Given the description of an element on the screen output the (x, y) to click on. 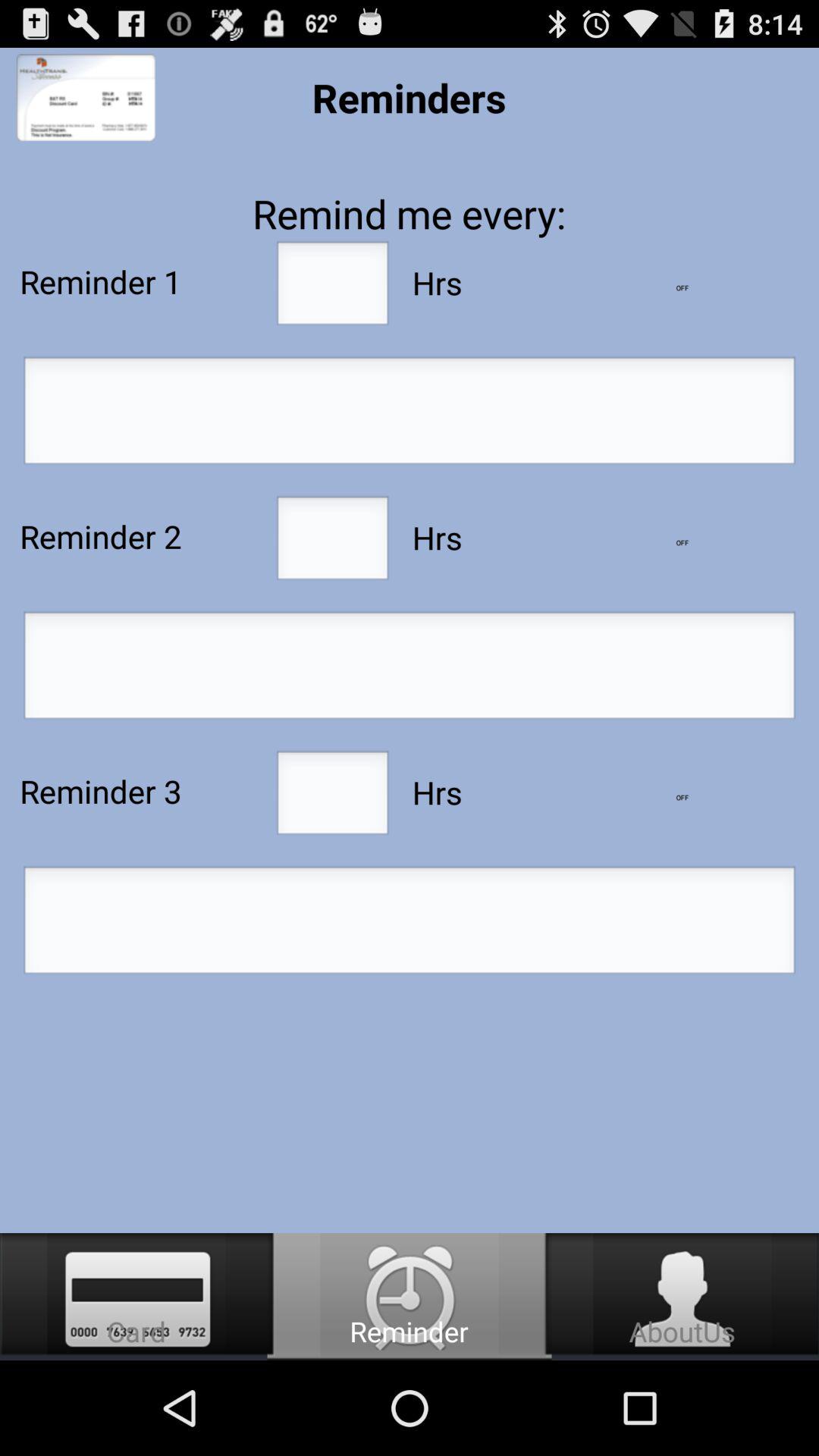
turn off (682, 542)
